Given the description of an element on the screen output the (x, y) to click on. 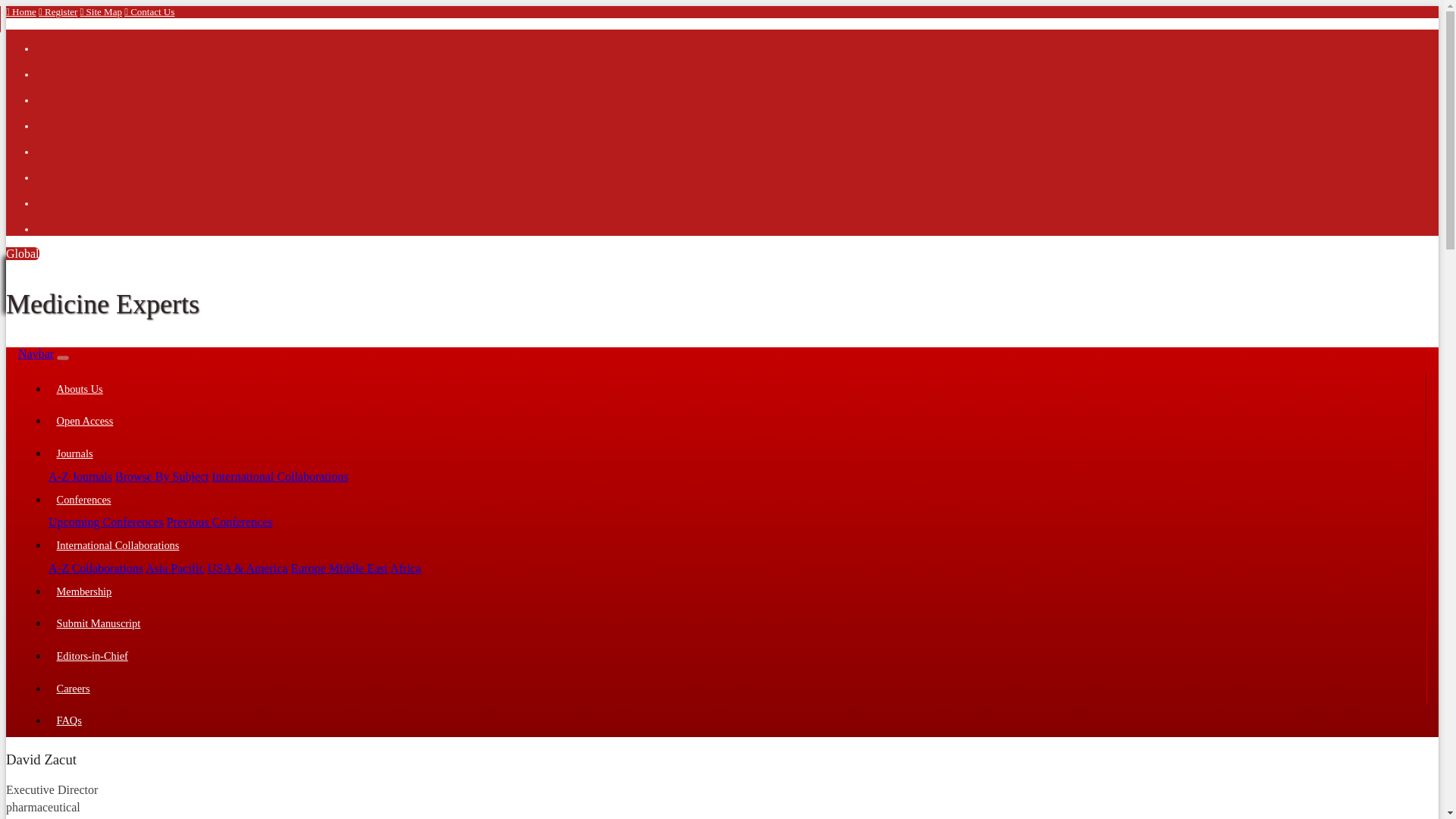
Navbar (35, 353)
A-Z Collaborations (95, 567)
International Collaborations (736, 545)
Previous Conferences (220, 521)
Journals (736, 453)
Conferences (736, 500)
International Collaborations (280, 476)
Home (20, 11)
Open Access (736, 421)
Register (58, 11)
